Given the description of an element on the screen output the (x, y) to click on. 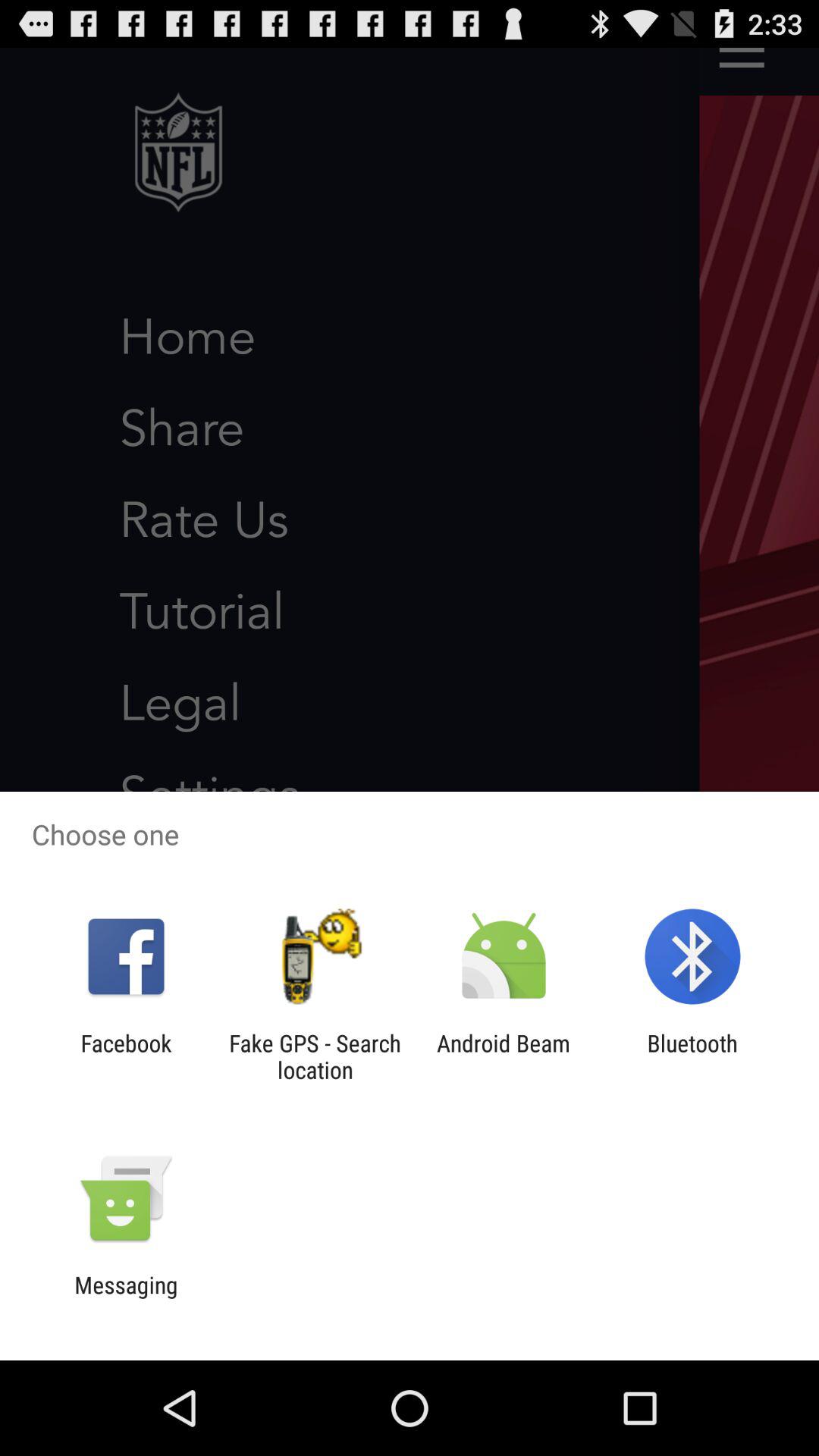
turn off messaging (126, 1298)
